Given the description of an element on the screen output the (x, y) to click on. 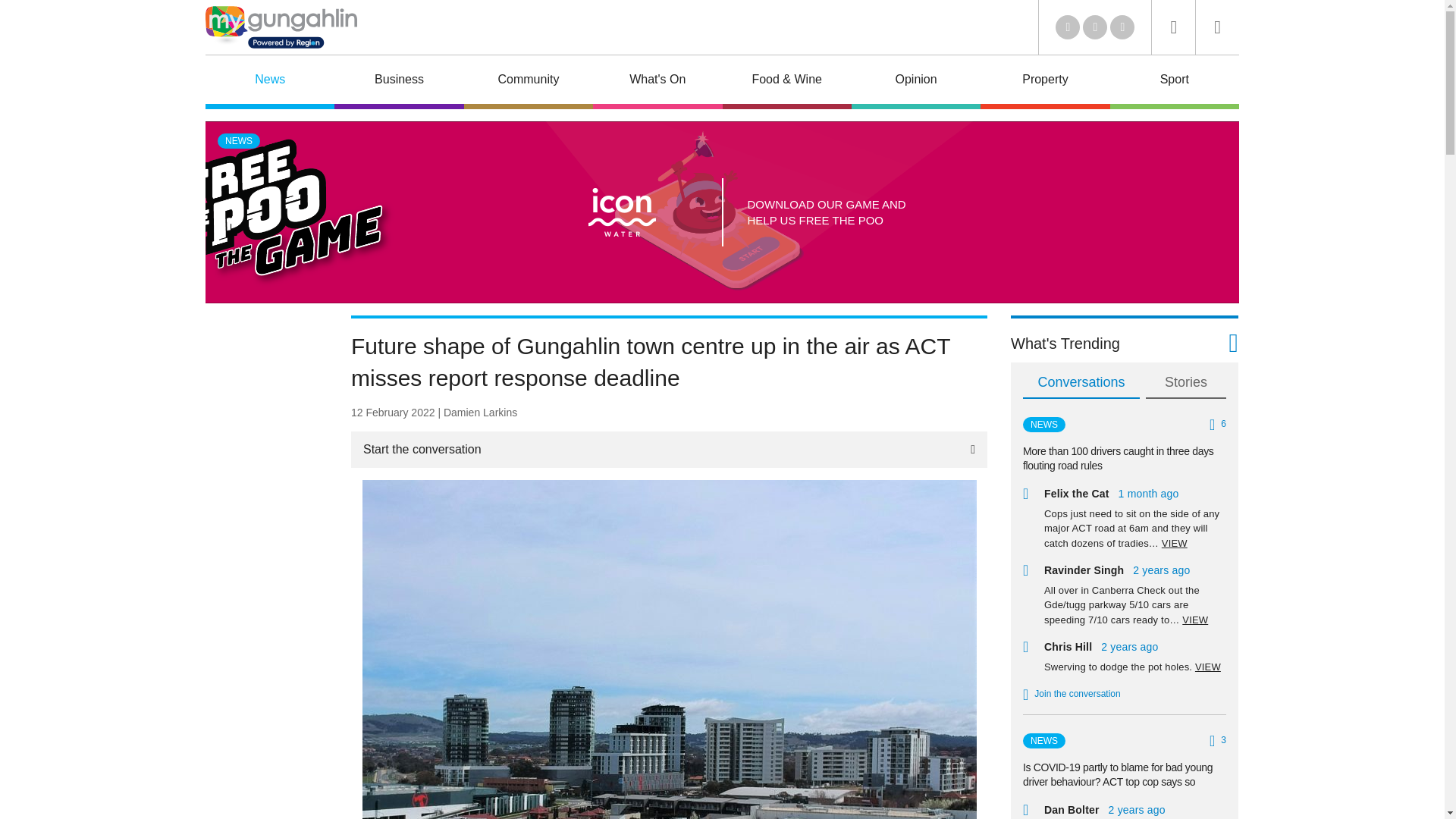
My Gungahlin Home (280, 26)
Business (398, 81)
News (269, 81)
Instagram (1121, 27)
Twitter (1067, 27)
Community (528, 81)
Facebook (1094, 27)
